Given the description of an element on the screen output the (x, y) to click on. 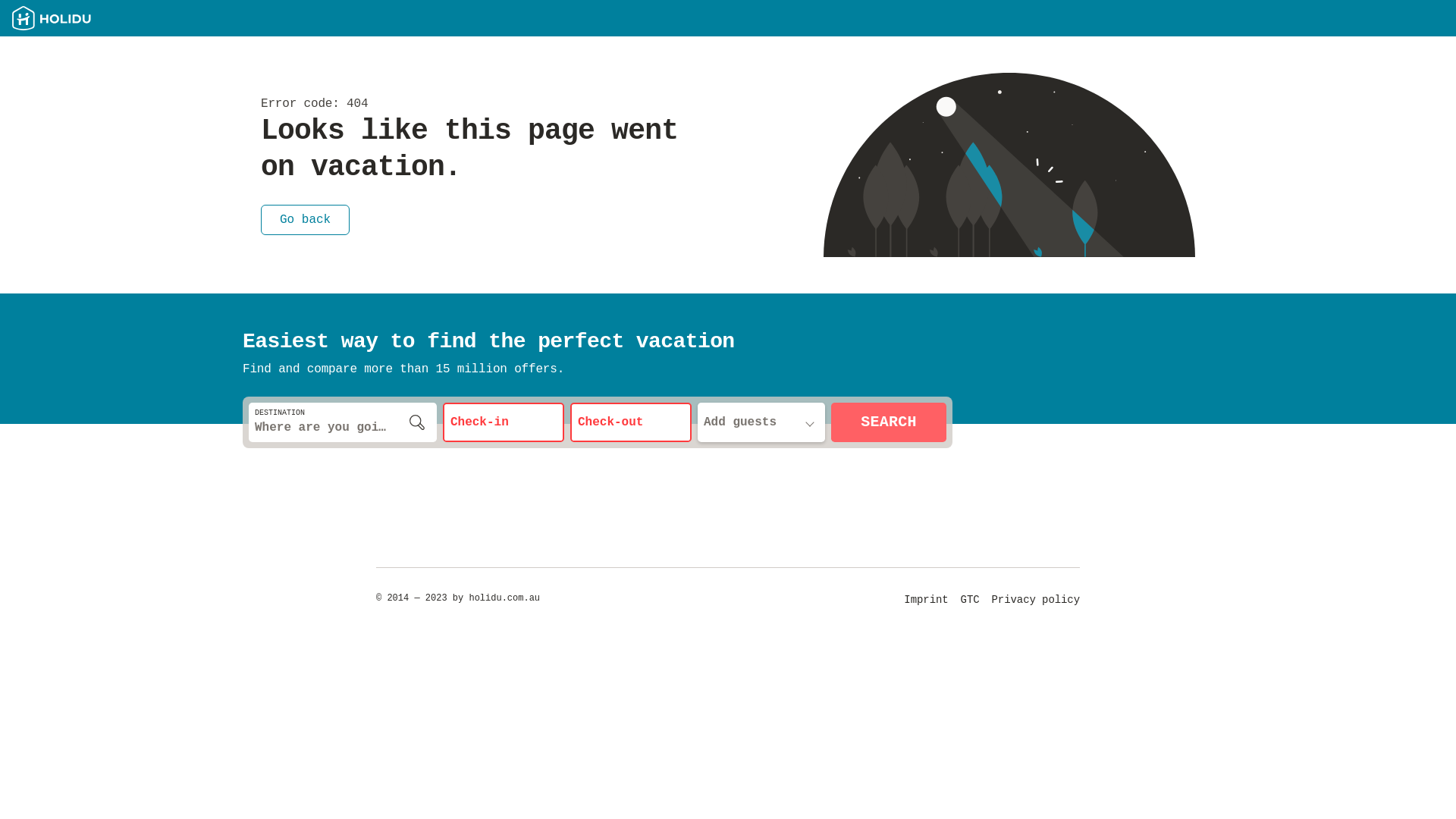
Check-in Element type: text (503, 422)
Add guests Element type: text (761, 422)
GTC Element type: text (969, 599)
Imprint Element type: text (925, 599)
Privacy policy Element type: text (1035, 599)
Go back Element type: text (304, 210)
Check-out Element type: text (630, 422)
SEARCH Element type: text (888, 422)
